Given the description of an element on the screen output the (x, y) to click on. 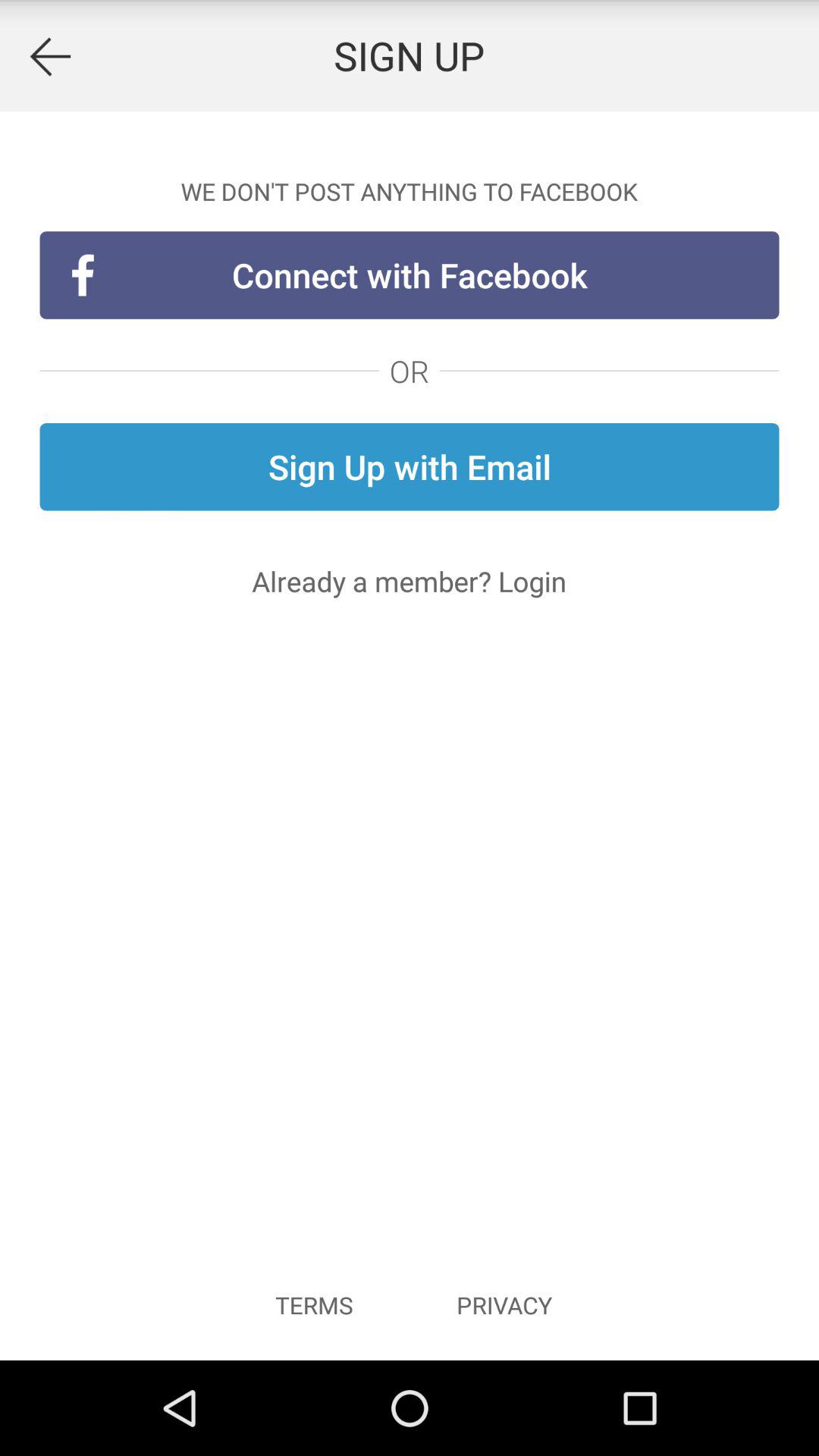
return to previous screen (49, 55)
